Given the description of an element on the screen output the (x, y) to click on. 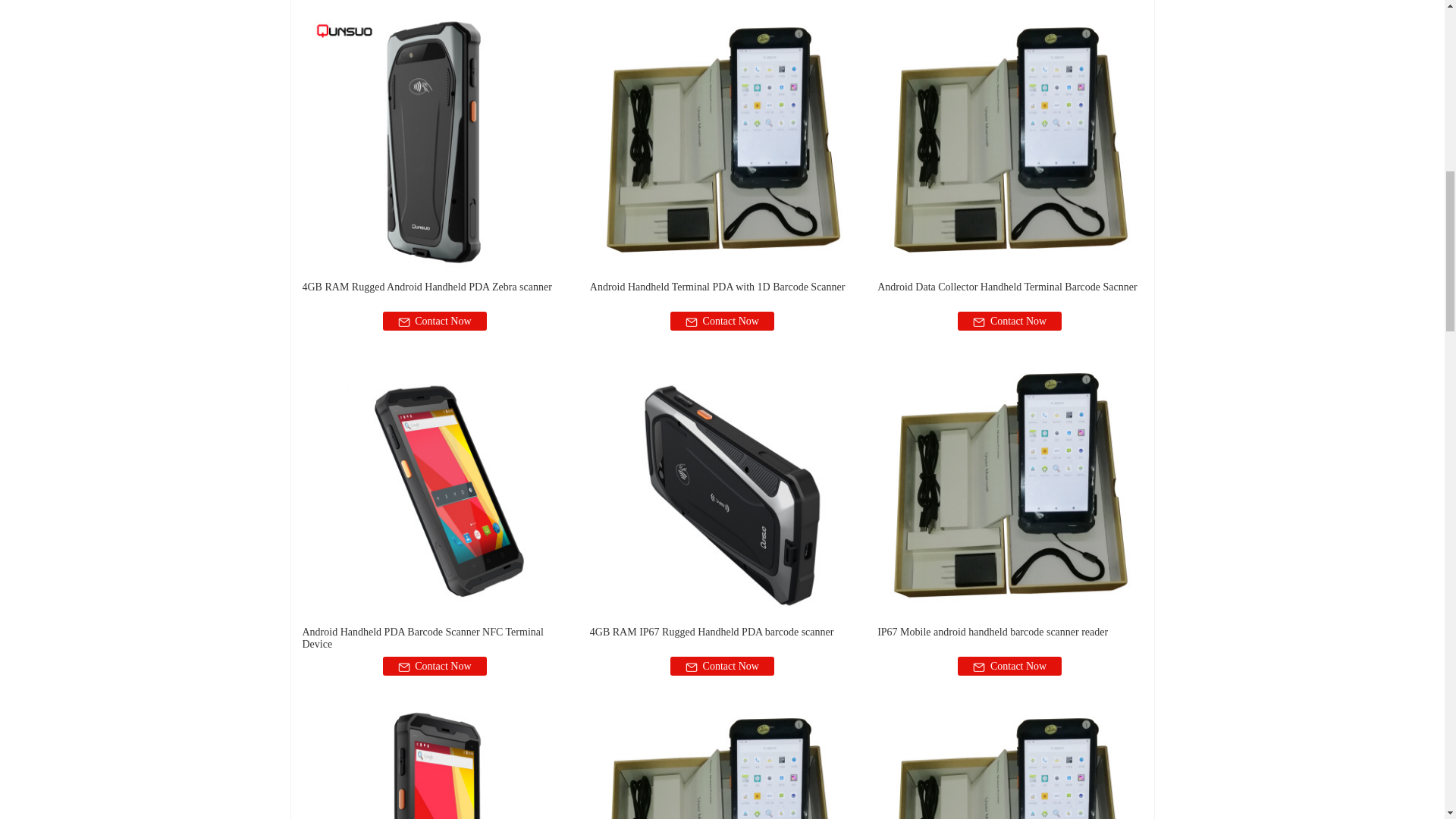
Contact Now (434, 321)
